Given the description of an element on the screen output the (x, y) to click on. 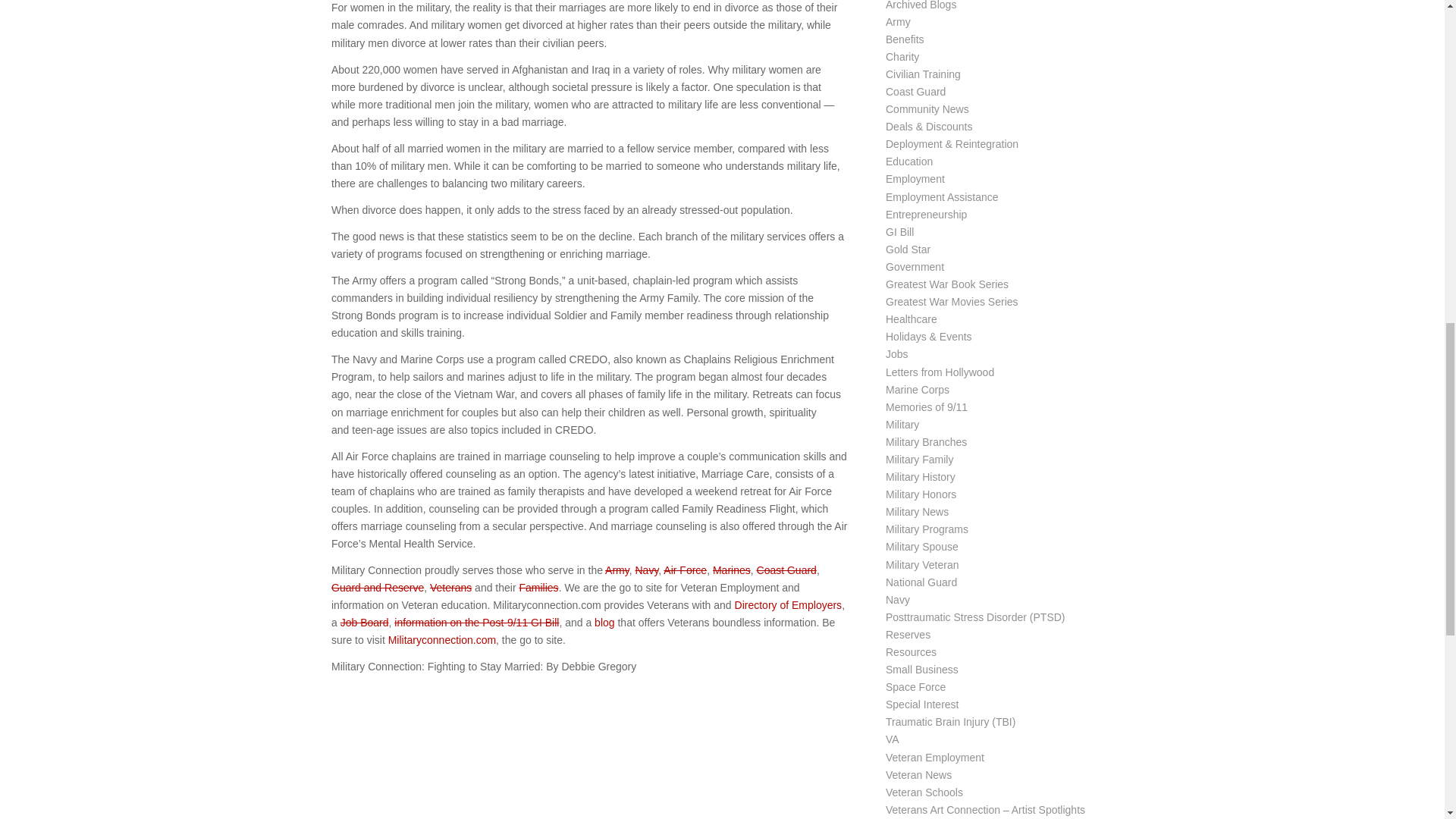
Directory of Employers (789, 604)
Job Board (364, 622)
Guard and Reserve (377, 587)
Army (616, 570)
blog (604, 622)
Archived Blogs (920, 5)
Marines (732, 570)
Militaryconnection.com (442, 639)
Coast Guard (786, 570)
Air Force (684, 570)
